Given the description of an element on the screen output the (x, y) to click on. 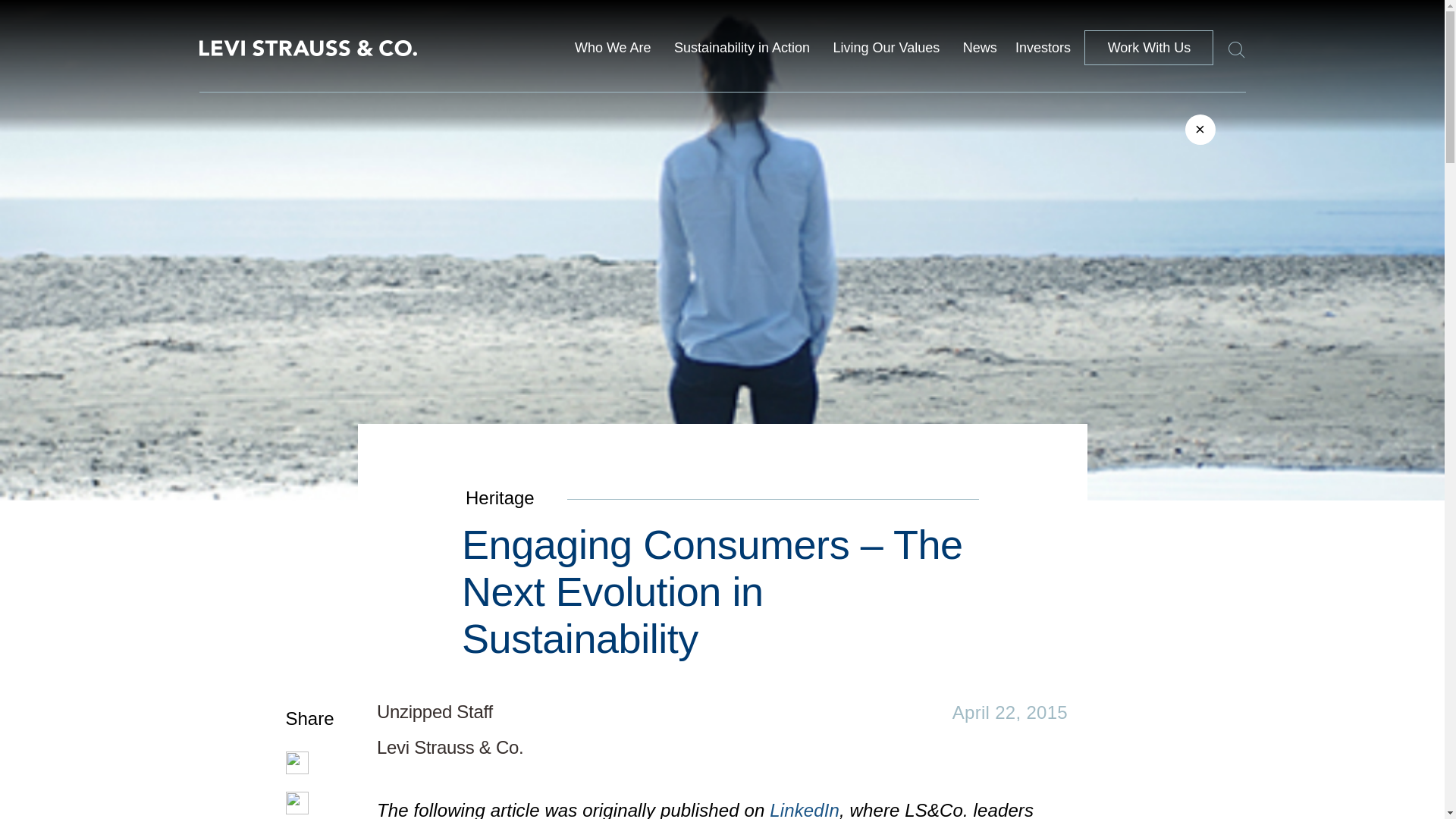
News (979, 47)
Posts by Unzipped Staff (435, 711)
Who We Are (613, 47)
Work With Us (1148, 47)
Living Our Values (885, 47)
Investors (1042, 52)
Search (1228, 47)
Sustainability in Action (741, 47)
